Given the description of an element on the screen output the (x, y) to click on. 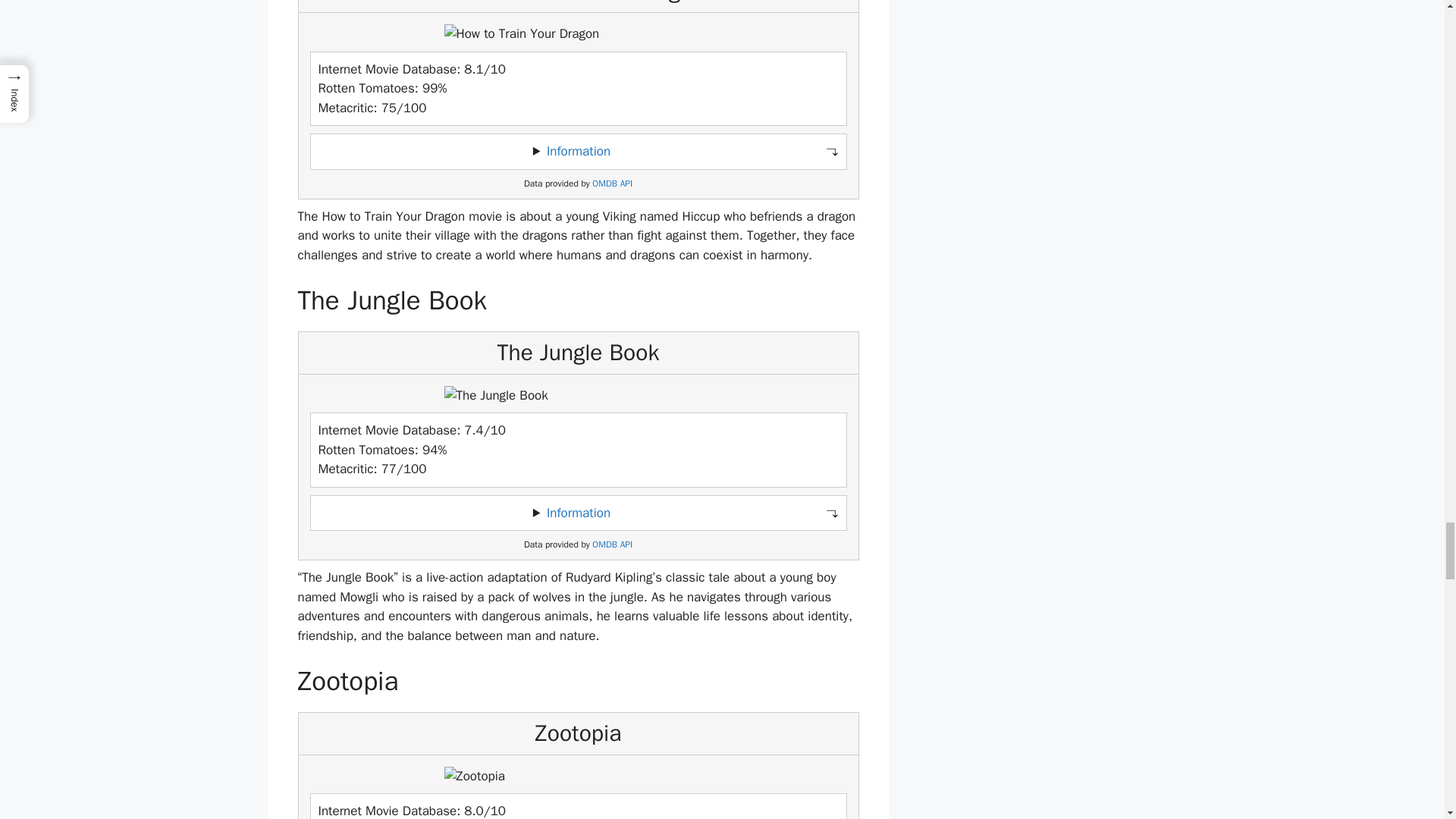
OMDB API (611, 183)
OMDB API (611, 544)
Information (578, 512)
Information (578, 150)
